Given the description of an element on the screen output the (x, y) to click on. 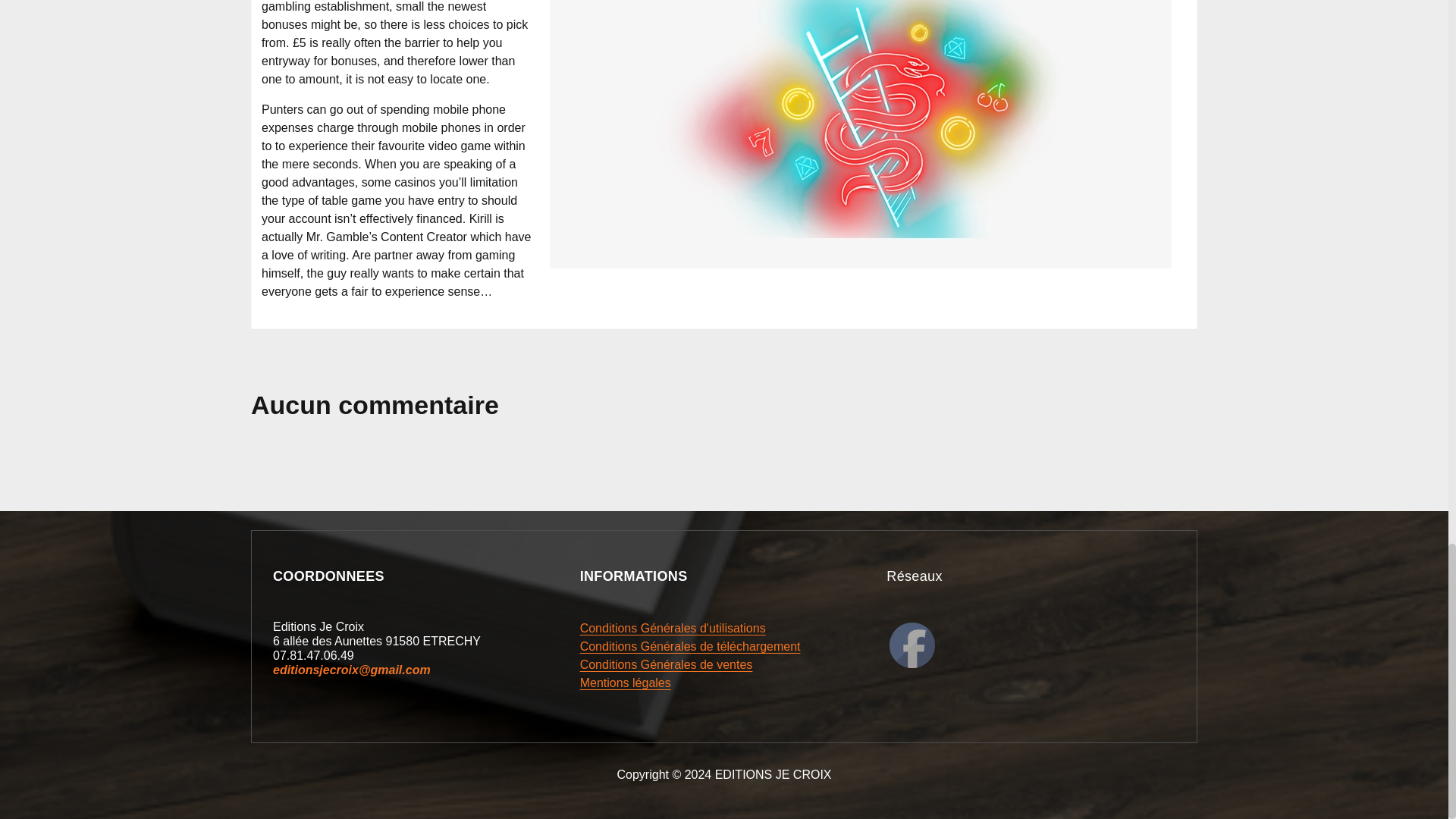
Facebook (911, 645)
